Given the description of an element on the screen output the (x, y) to click on. 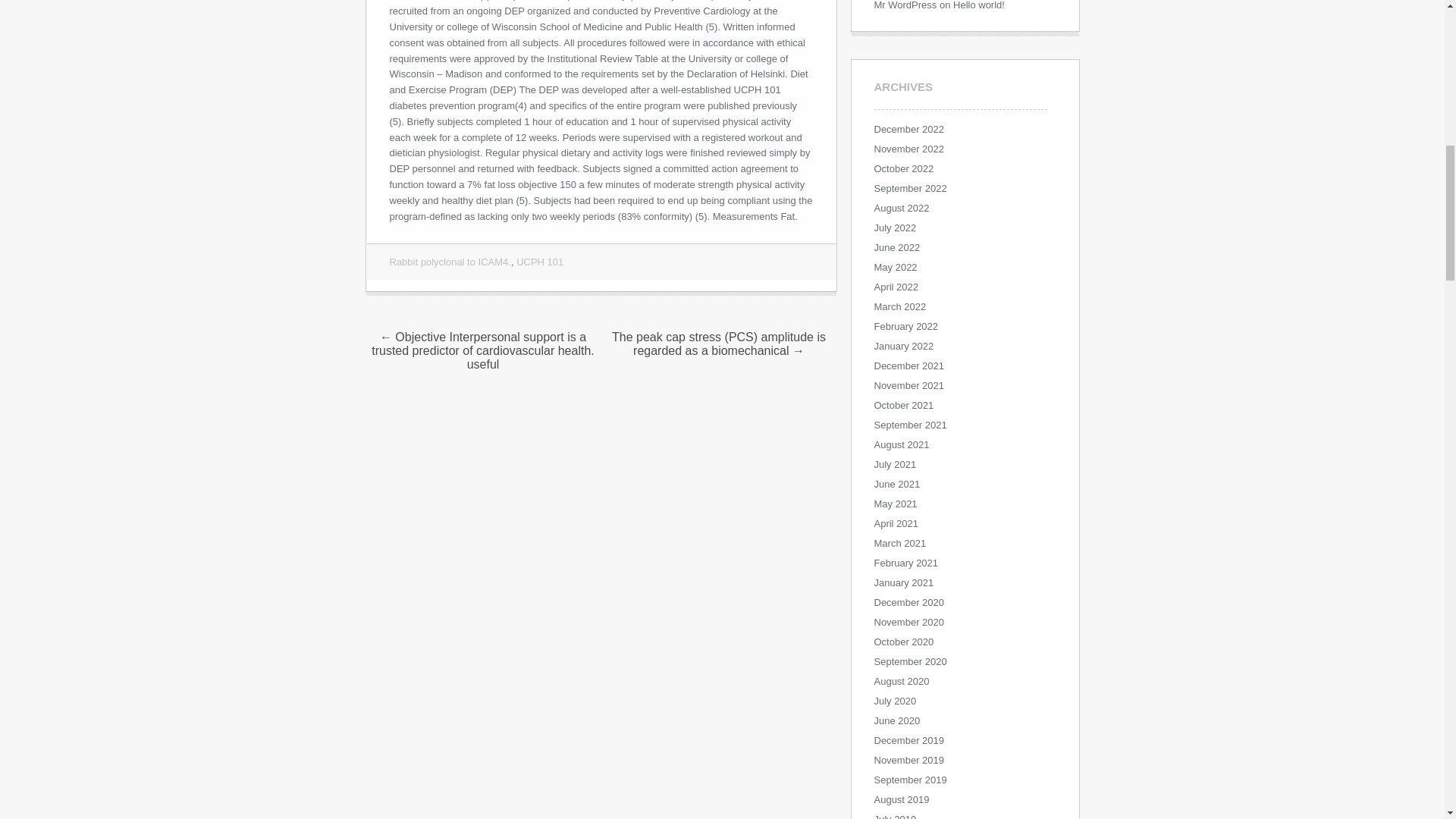
March 2022 (899, 306)
February 2022 (905, 325)
Hello world! (978, 5)
December 2022 (908, 128)
Mr WordPress (904, 5)
August 2021 (900, 443)
October 2021 (903, 404)
August 2022 (900, 206)
July 2021 (894, 463)
September 2022 (909, 187)
December 2021 (908, 365)
July 2022 (894, 226)
September 2021 (909, 423)
January 2022 (903, 345)
October 2022 (903, 167)
